Given the description of an element on the screen output the (x, y) to click on. 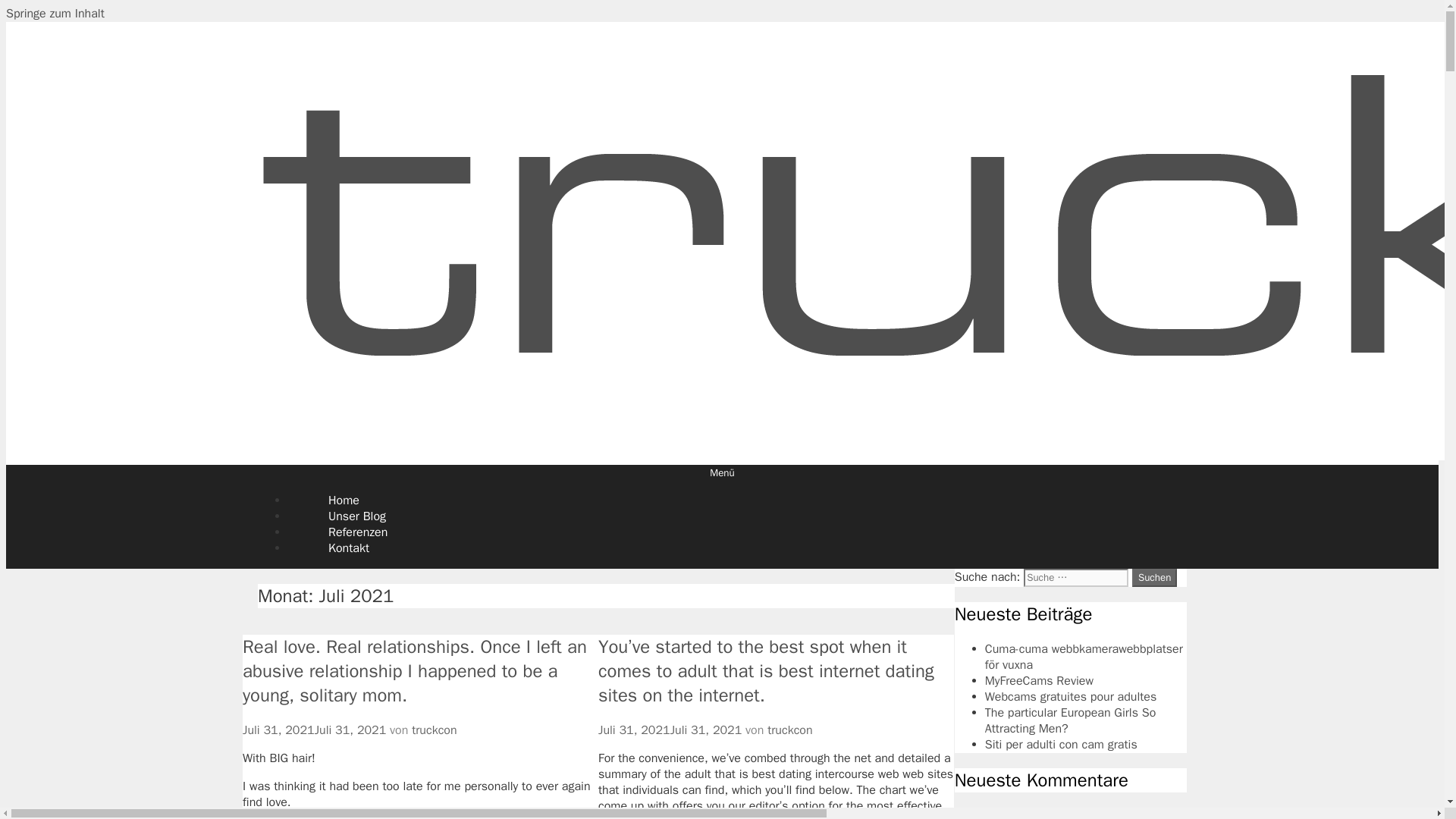
Kontakt (348, 548)
truckcon (789, 729)
Referenzen (358, 531)
Suchen (1154, 577)
Juli 31, 2021Juli 31, 2021 (314, 729)
Springe zum Inhalt (54, 13)
Unser Blog (357, 516)
truckcon (434, 729)
Home (343, 500)
12:56 pm (669, 729)
Springe zum Inhalt (54, 13)
Juli 31, 2021Juli 31, 2021 (669, 729)
Suchen (1154, 577)
5:42 pm (314, 729)
